Given the description of an element on the screen output the (x, y) to click on. 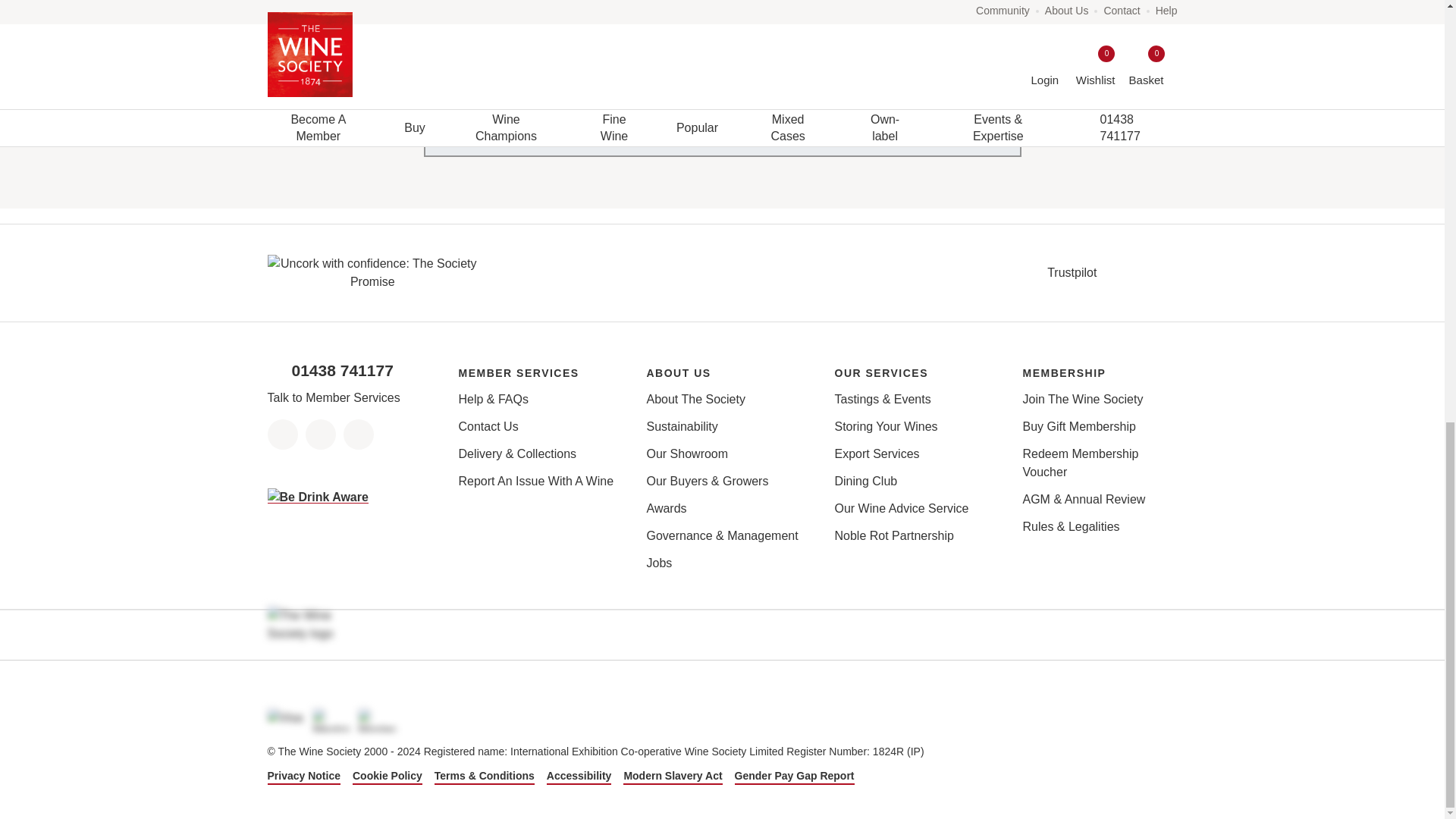
Mastercard (377, 720)
Visa (285, 720)
Mestro (331, 720)
